Given the description of an element on the screen output the (x, y) to click on. 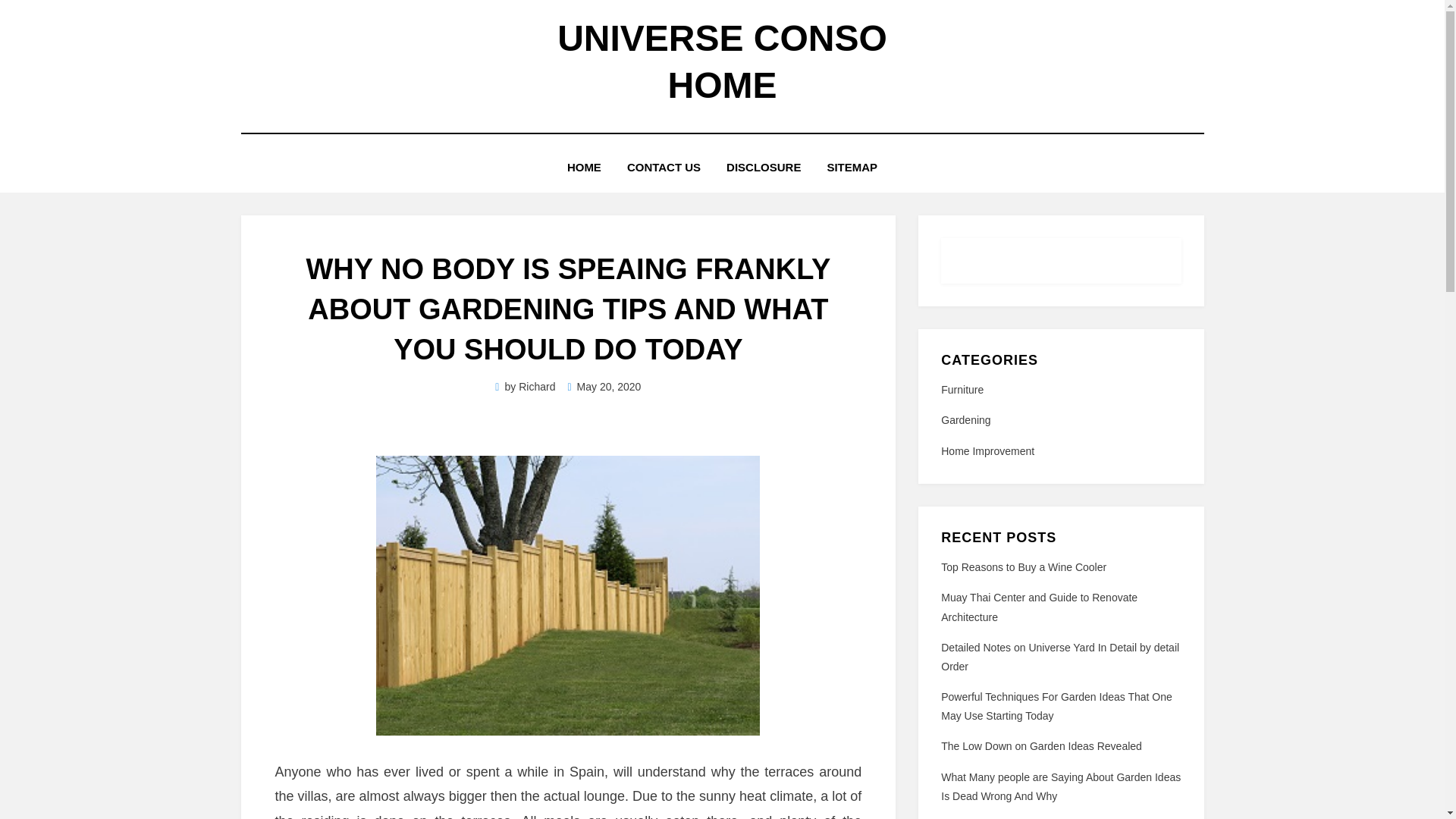
Top Reasons to Buy a Wine Cooler (1023, 567)
HOME (584, 167)
Furniture (1060, 389)
The Low Down on Garden Ideas Revealed (1040, 746)
UNIVERSE CONSO HOME (721, 61)
CONTACT US (663, 167)
Richard (536, 386)
DISCLOSURE (763, 167)
Muay Thai Center and Guide to Renovate Architecture (1038, 606)
